Given the description of an element on the screen output the (x, y) to click on. 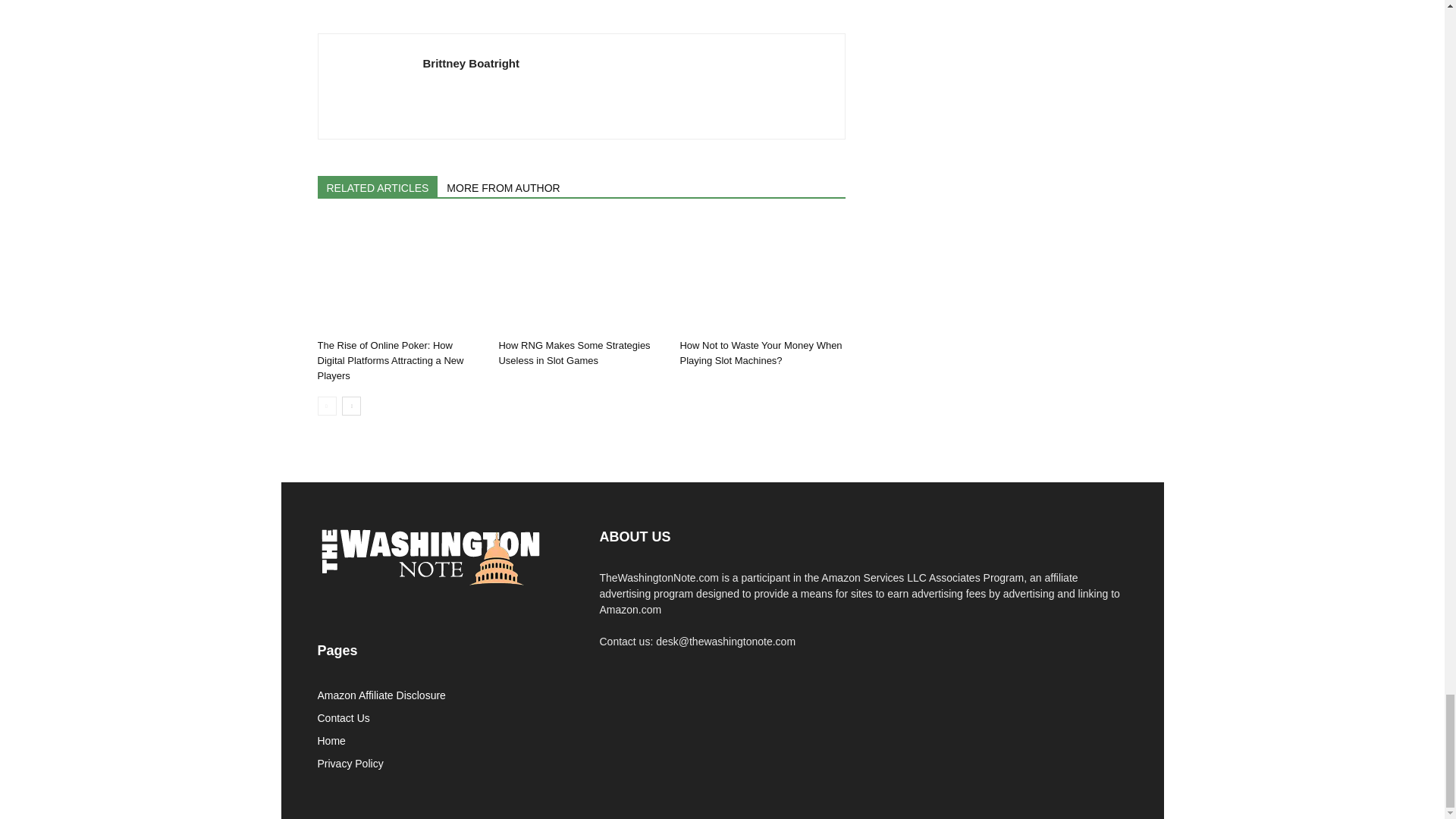
How RNG Makes Some Strategies Useless in Slot Games (580, 275)
How Not to Waste Your Money When Playing Slot Machines? (761, 275)
How Not to Waste Your Money When Playing Slot Machines? (760, 352)
How RNG Makes Some Strategies Useless in Slot Games (573, 352)
